Given the description of an element on the screen output the (x, y) to click on. 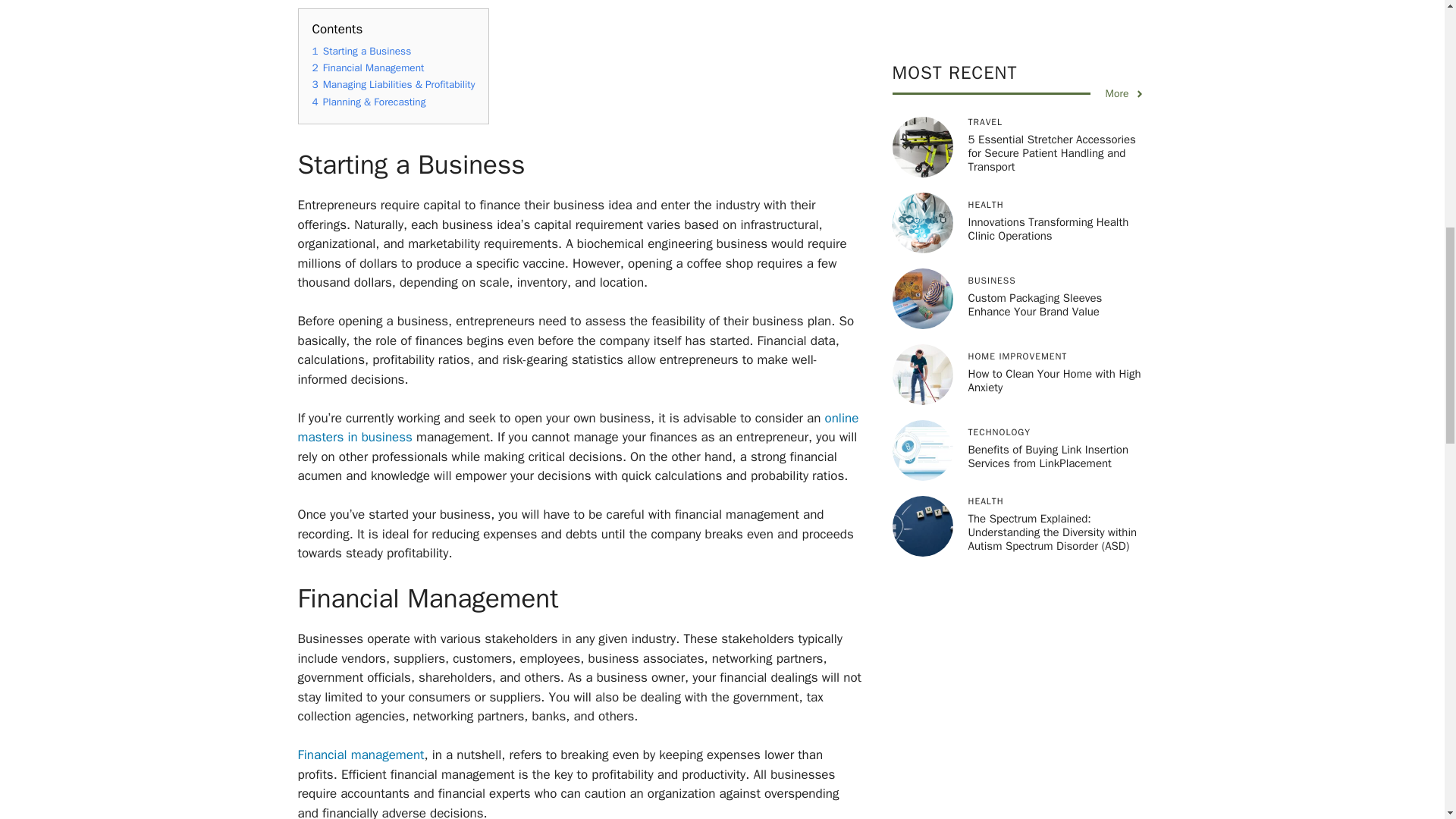
Financial management (360, 754)
1 Starting a Business (362, 51)
online masters in business (578, 427)
2 Financial Management (369, 67)
